Given the description of an element on the screen output the (x, y) to click on. 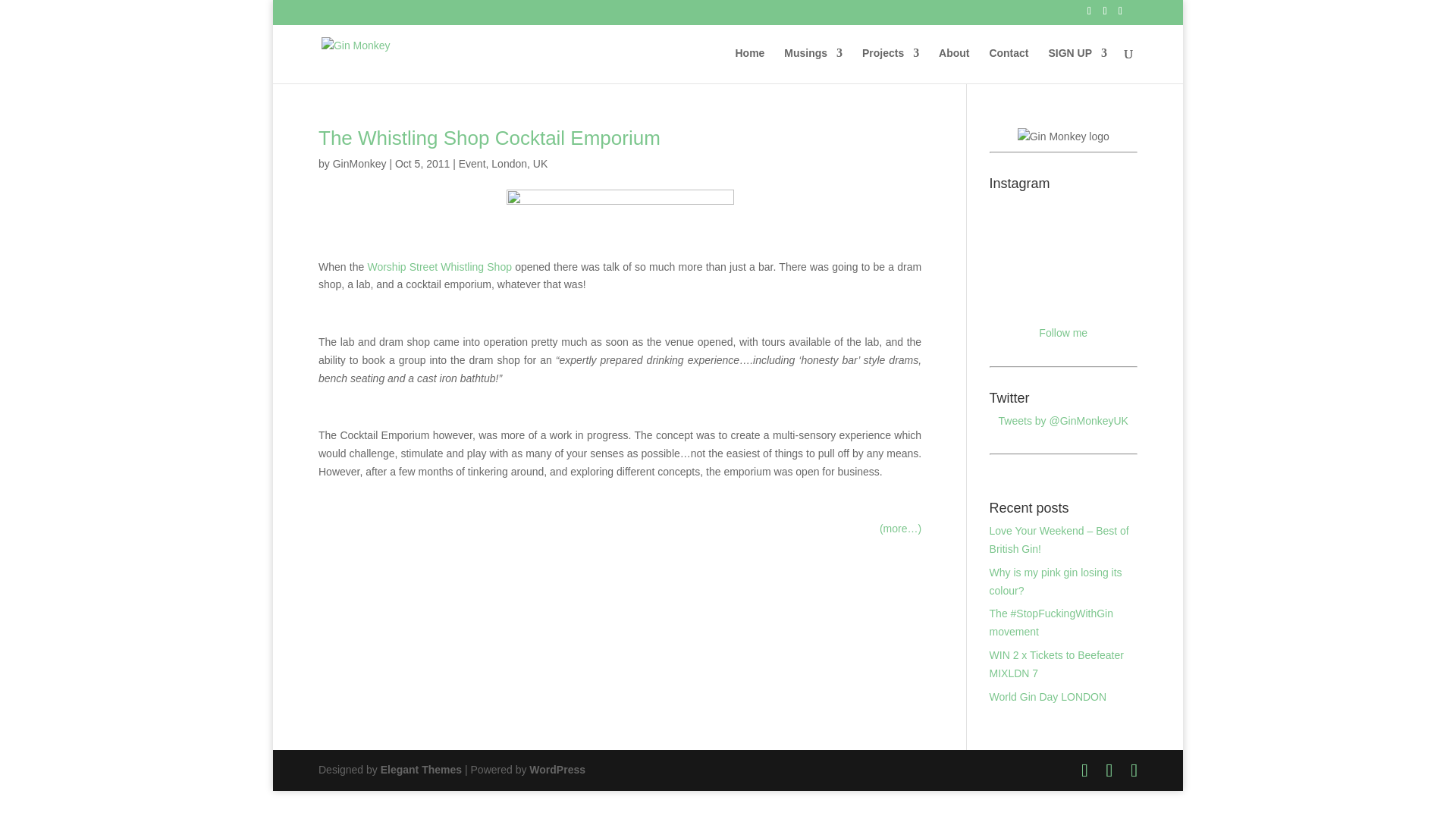
Premium WordPress Themes (420, 769)
Posts by GinMonkey (360, 163)
emporium (619, 204)
Projects (889, 65)
Musings (813, 65)
Contact (1007, 65)
SIGN UP (1077, 65)
